Given the description of an element on the screen output the (x, y) to click on. 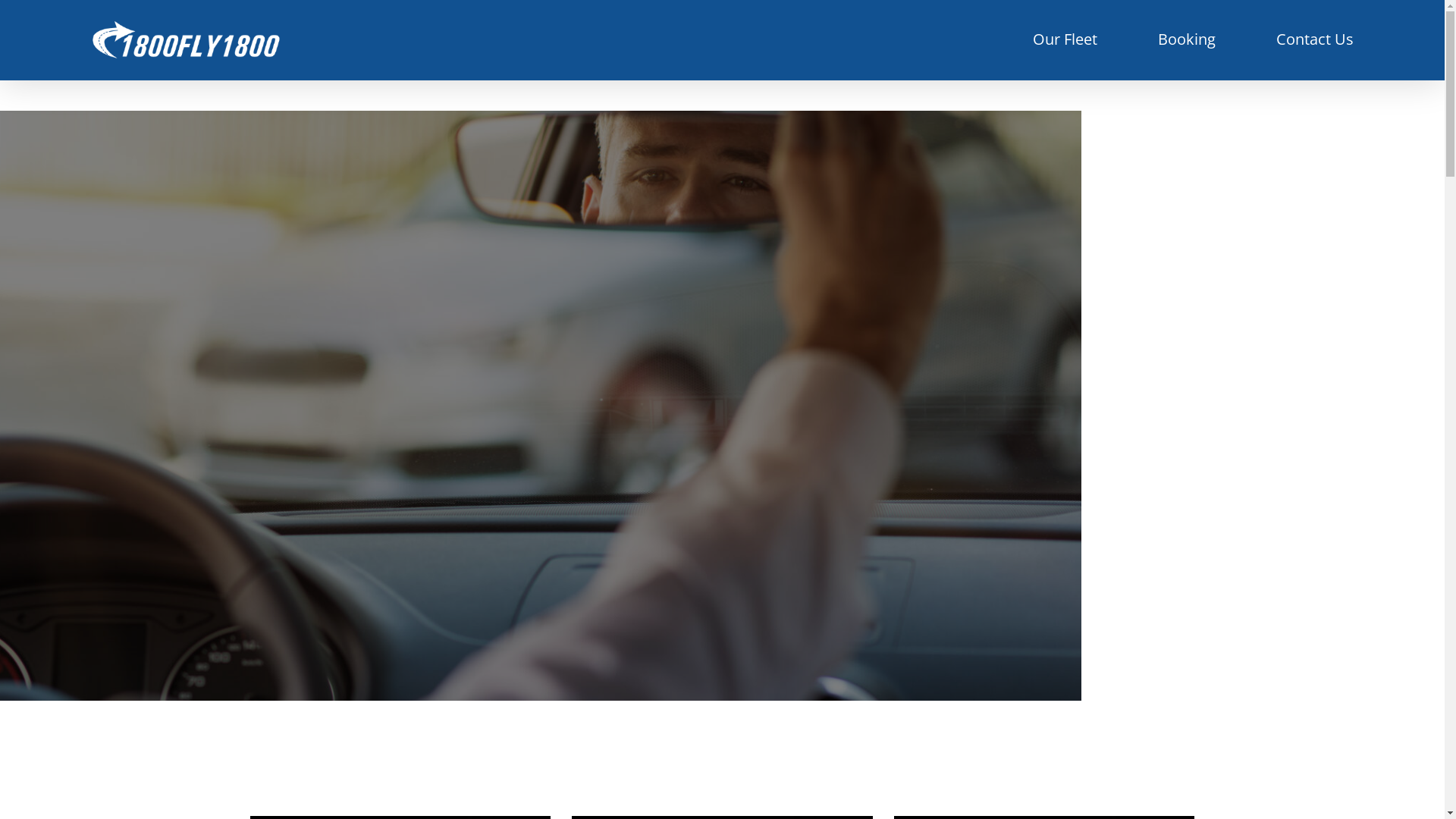
Booking Element type: text (1186, 39)
Our Fleet Element type: text (1064, 39)
Contact Us Element type: text (1314, 39)
